Given the description of an element on the screen output the (x, y) to click on. 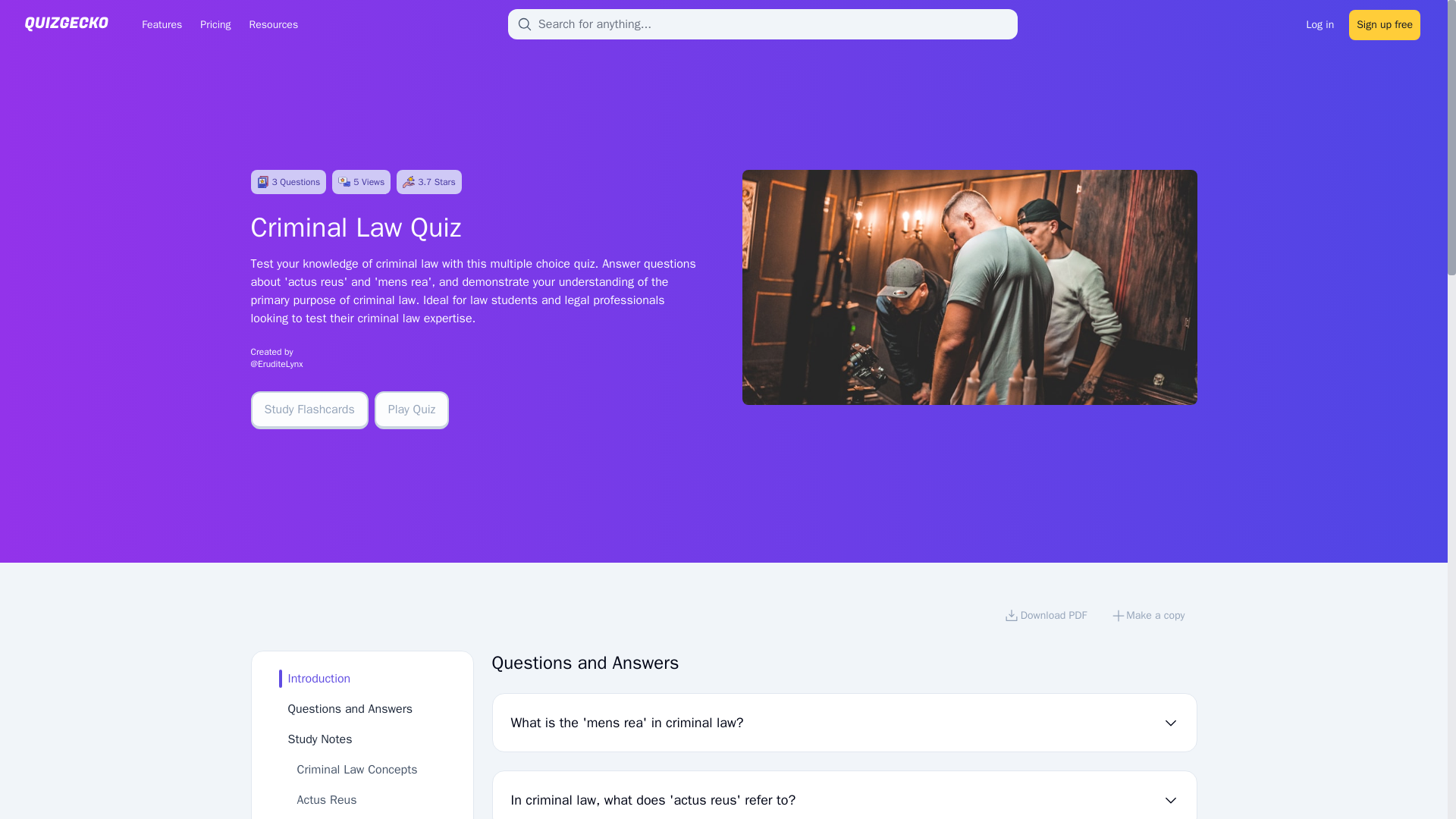
Sign up free (1384, 23)
Introduction (319, 678)
Play Quiz (411, 410)
Resources (273, 23)
Log in (1320, 23)
Questions and Answers (350, 708)
Download PDF (1045, 616)
Features (161, 23)
Make a copy (1147, 616)
Study Notes (320, 739)
Study Flashcards (309, 410)
Pricing (214, 23)
Criminal Law Concepts (357, 769)
